Given the description of an element on the screen output the (x, y) to click on. 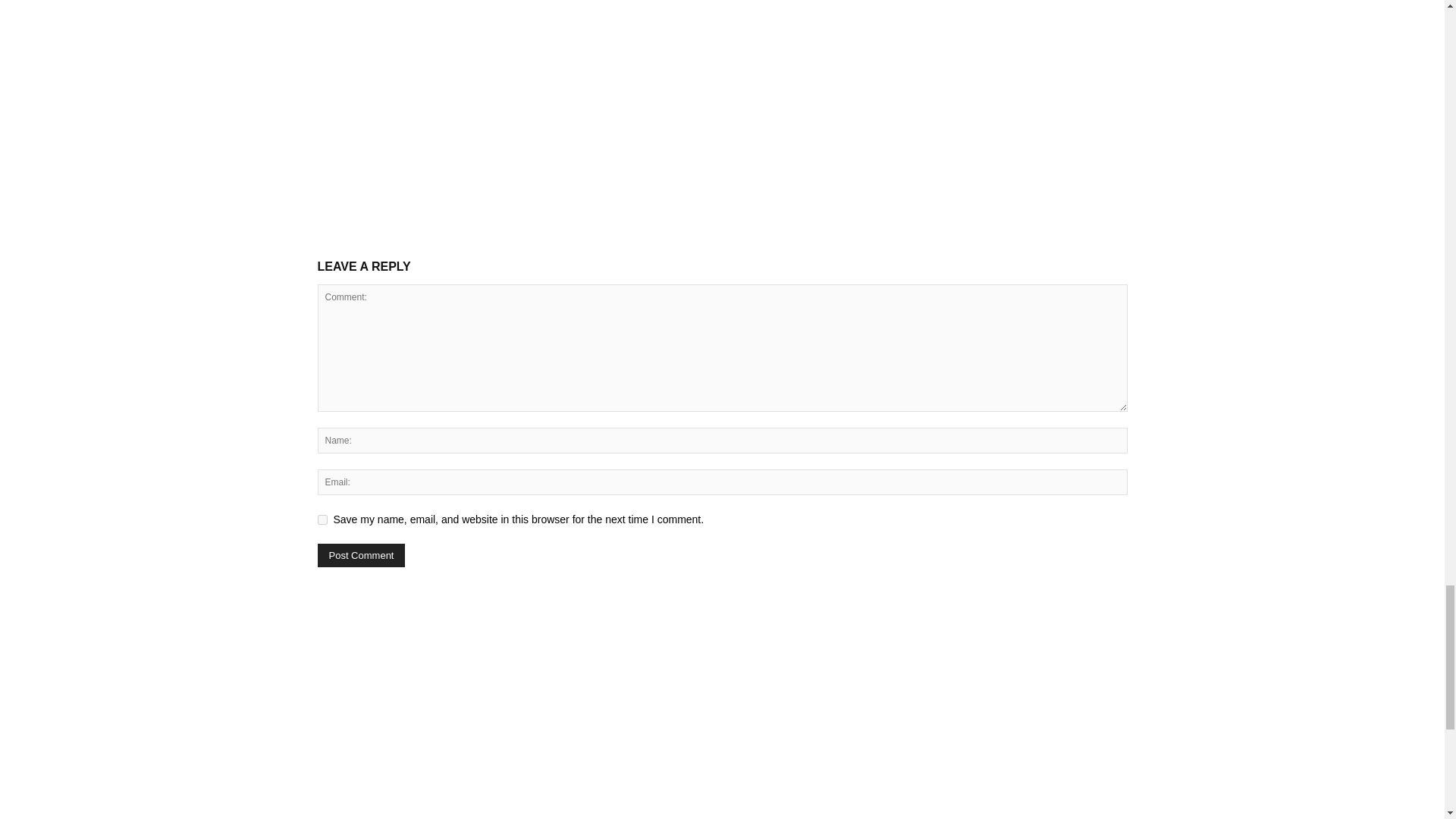
yes (321, 519)
Post Comment (360, 555)
